Given the description of an element on the screen output the (x, y) to click on. 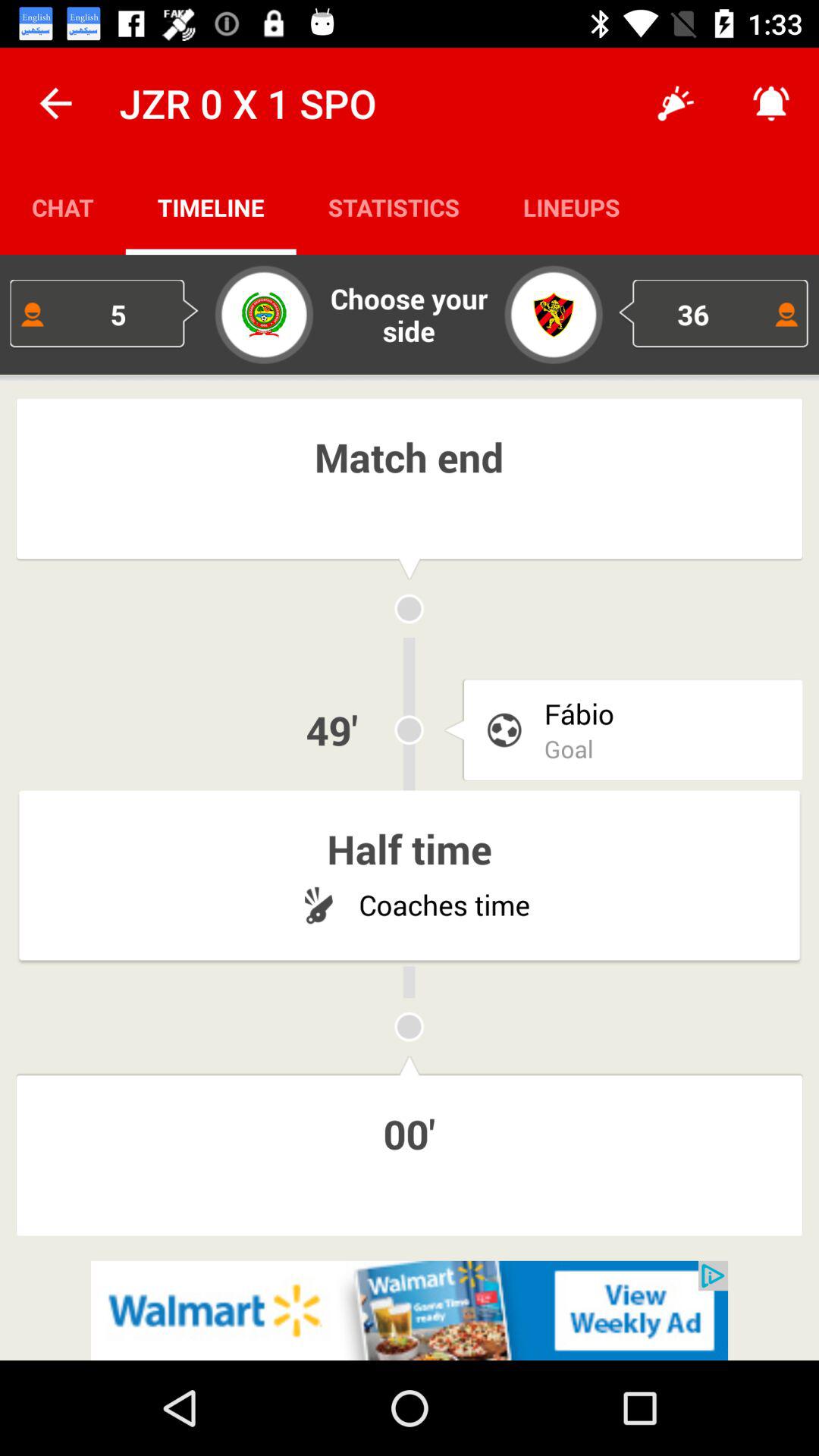
select the image on the left to the text choose your side on the web page (264, 315)
click the notification symbol (771, 103)
go to  timeline beside right side option (393, 206)
click on the symbol left to coaches time (318, 904)
select the icon which is left side of the fabio goal (504, 730)
